Given the description of an element on the screen output the (x, y) to click on. 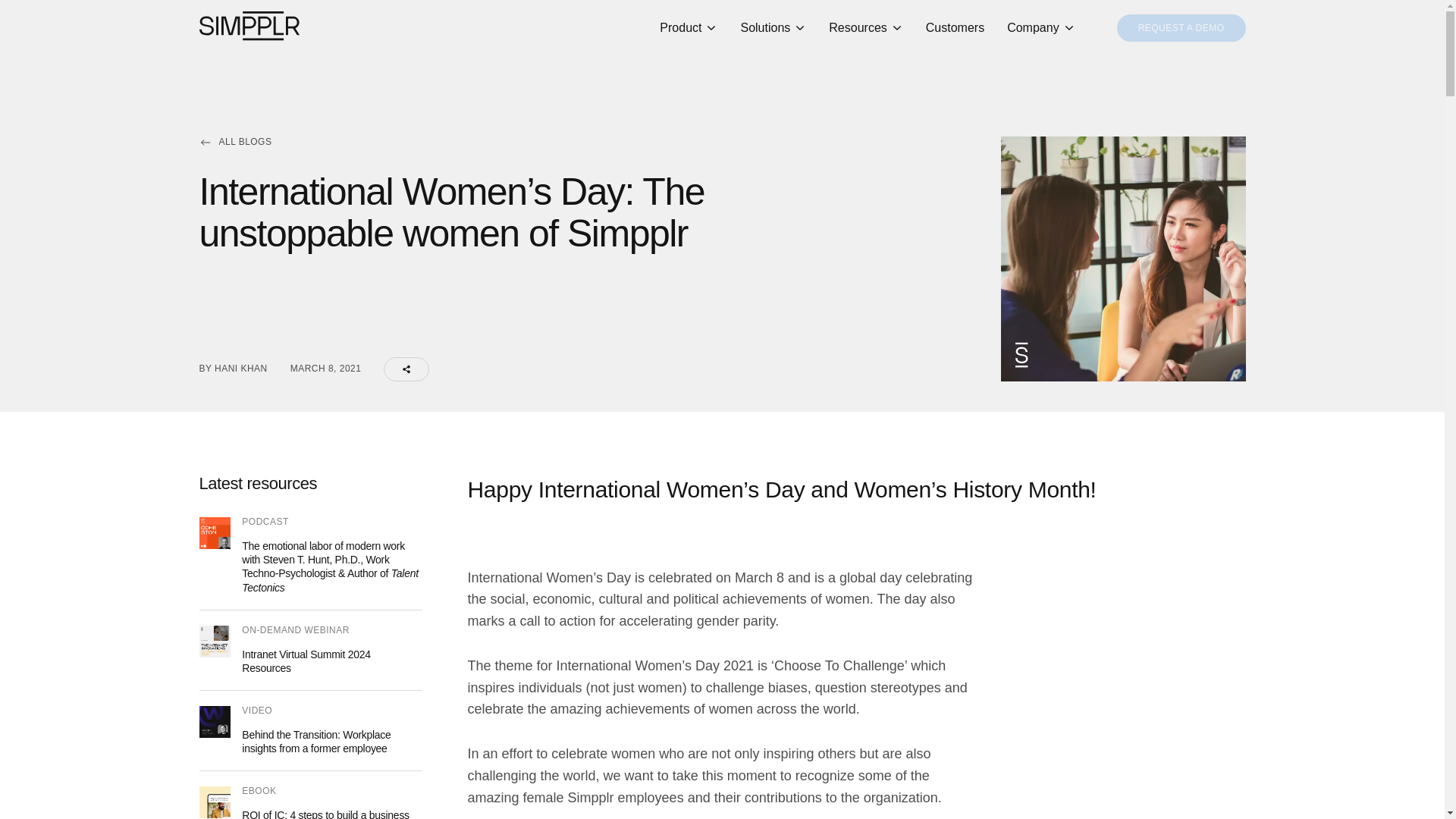
Customers (955, 28)
